Given the description of an element on the screen output the (x, y) to click on. 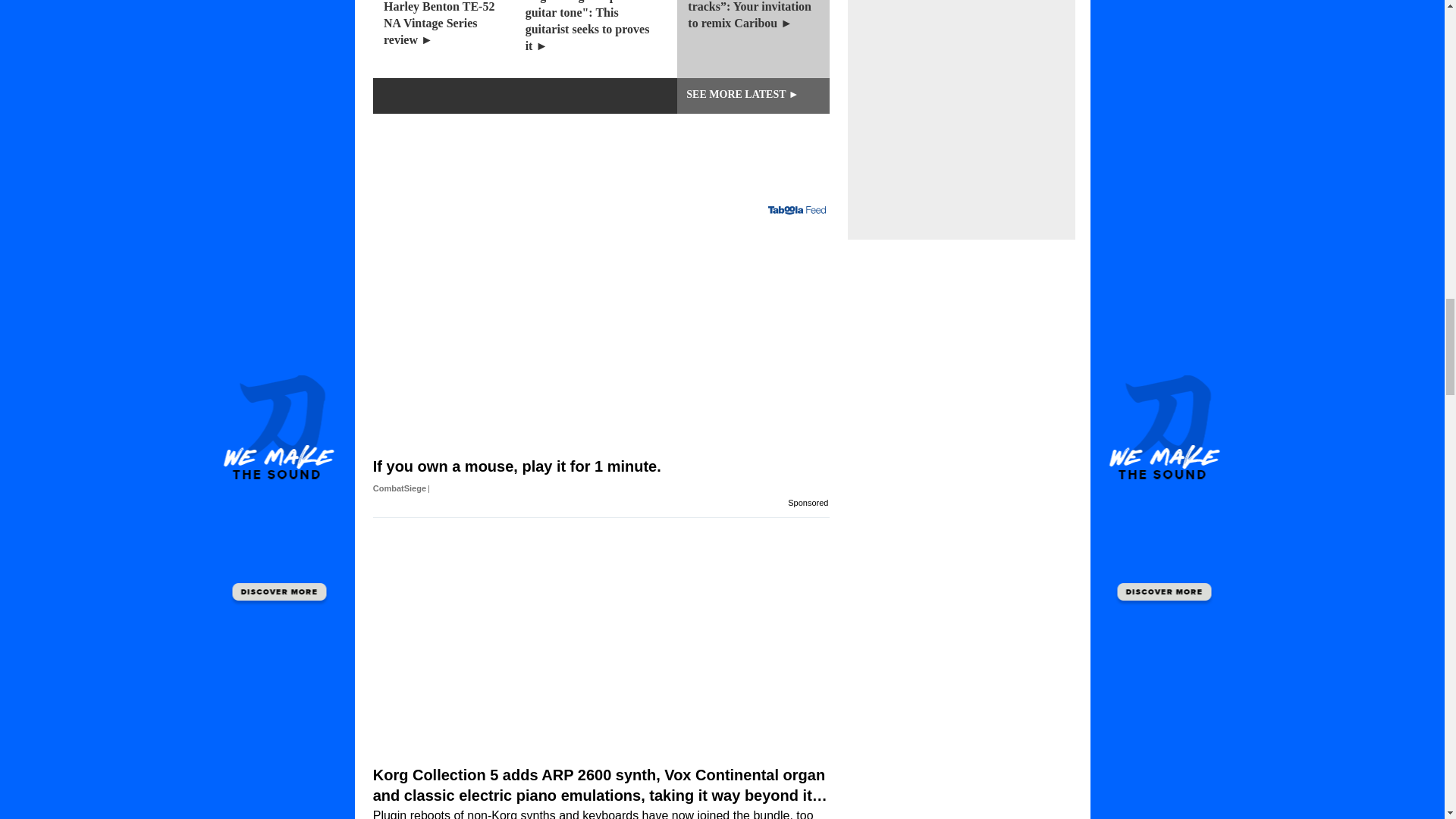
If you own a mouse, play it for 1 minute. (600, 476)
If you own a mouse, play it for 1 minute. (600, 336)
